Given the description of an element on the screen output the (x, y) to click on. 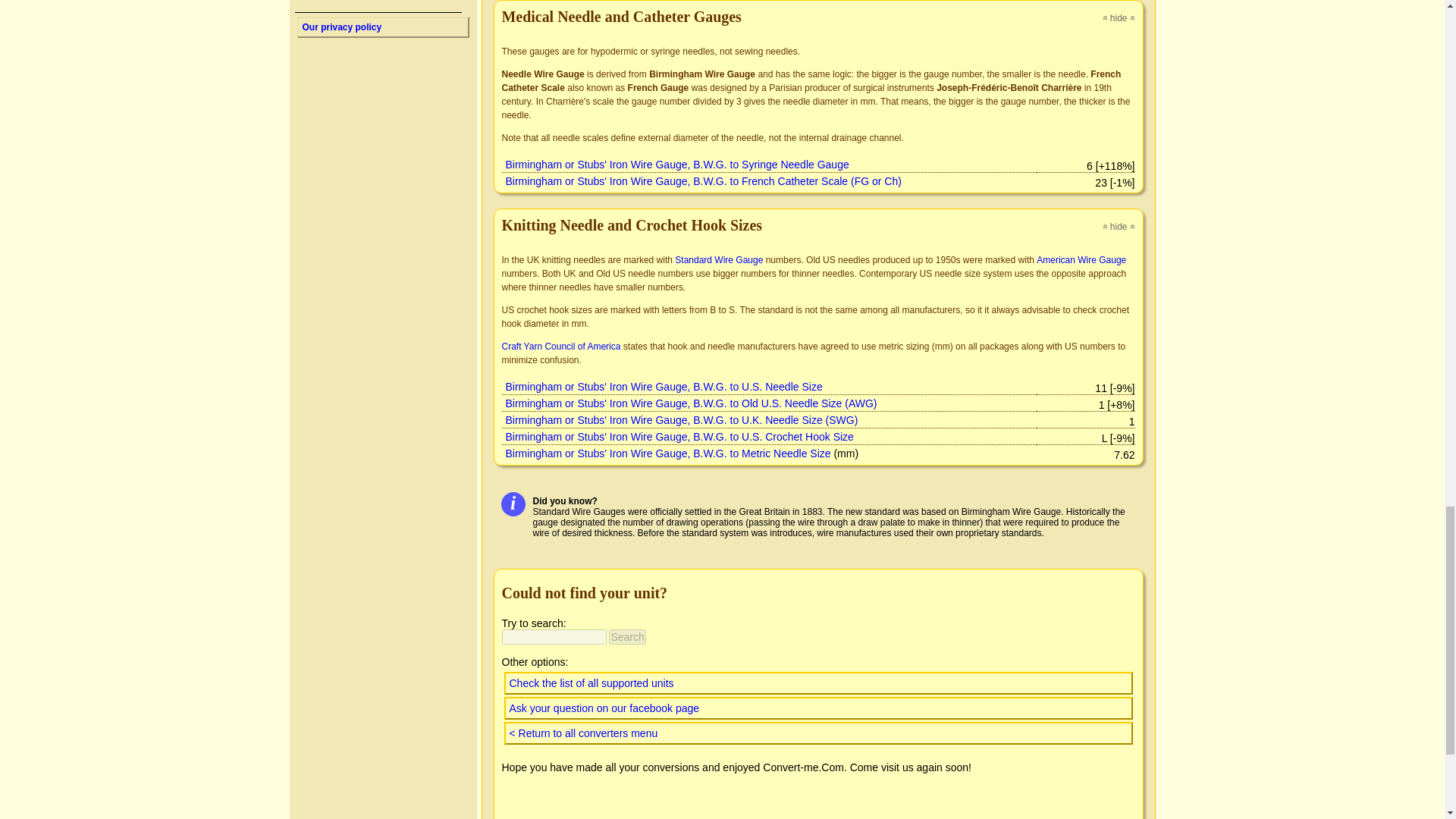
Search (626, 636)
